Given the description of an element on the screen output the (x, y) to click on. 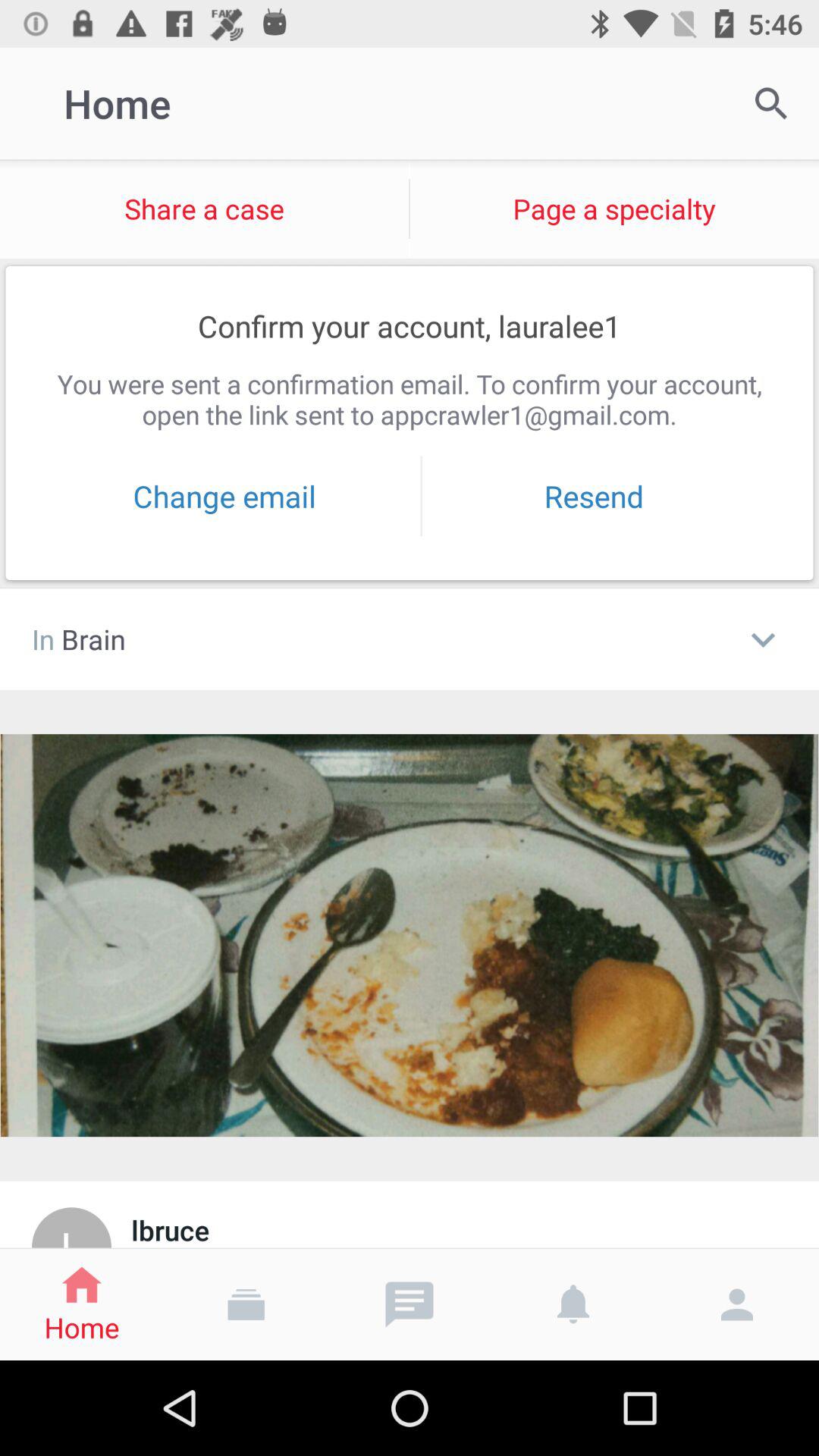
open the change email (224, 496)
